Given the description of an element on the screen output the (x, y) to click on. 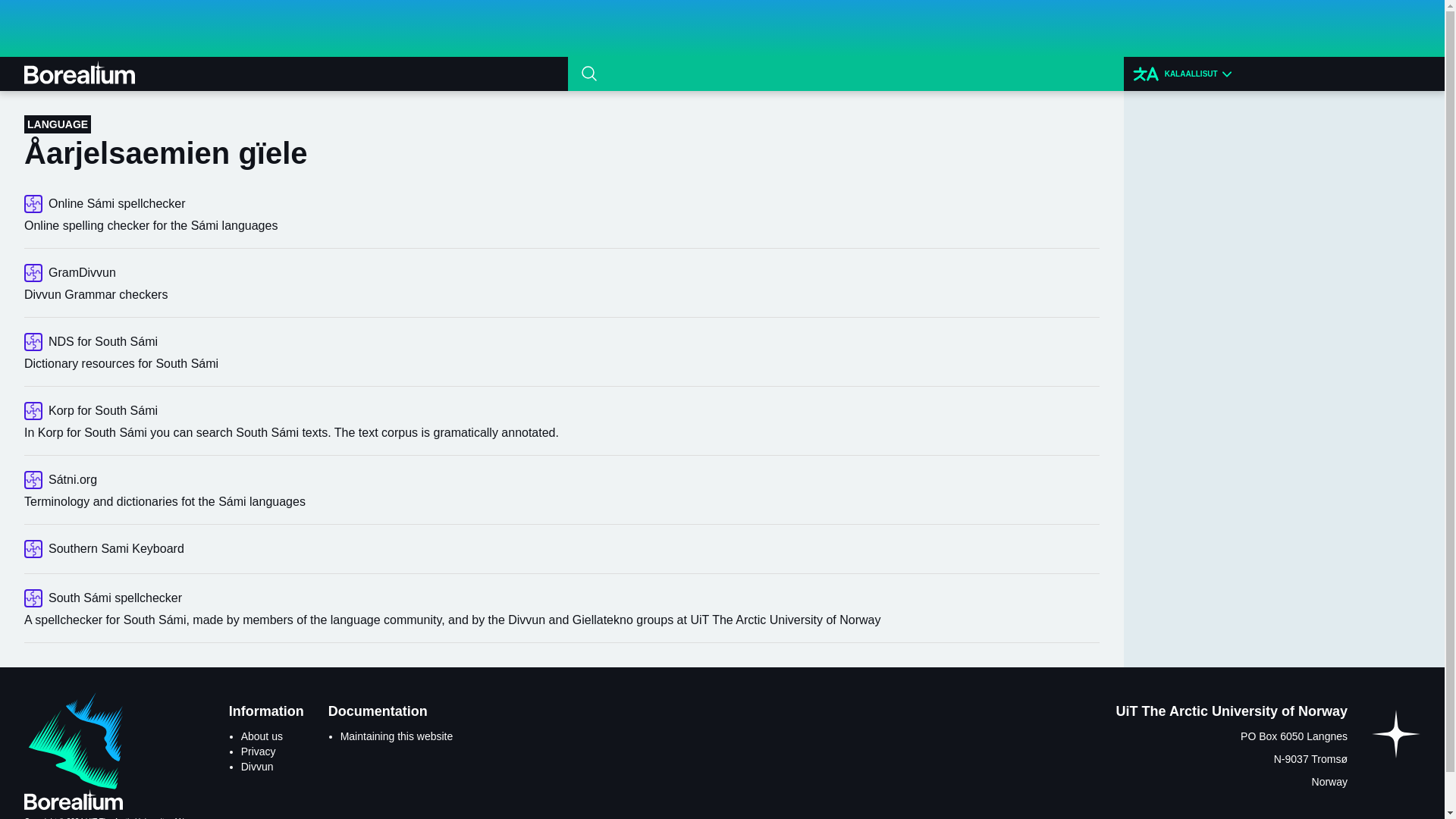
Divvun (257, 766)
Southern Sami Keyboard (561, 548)
GramDivvun (561, 272)
About us (261, 736)
Maintaining this website (396, 736)
Privacy (258, 751)
